Given the description of an element on the screen output the (x, y) to click on. 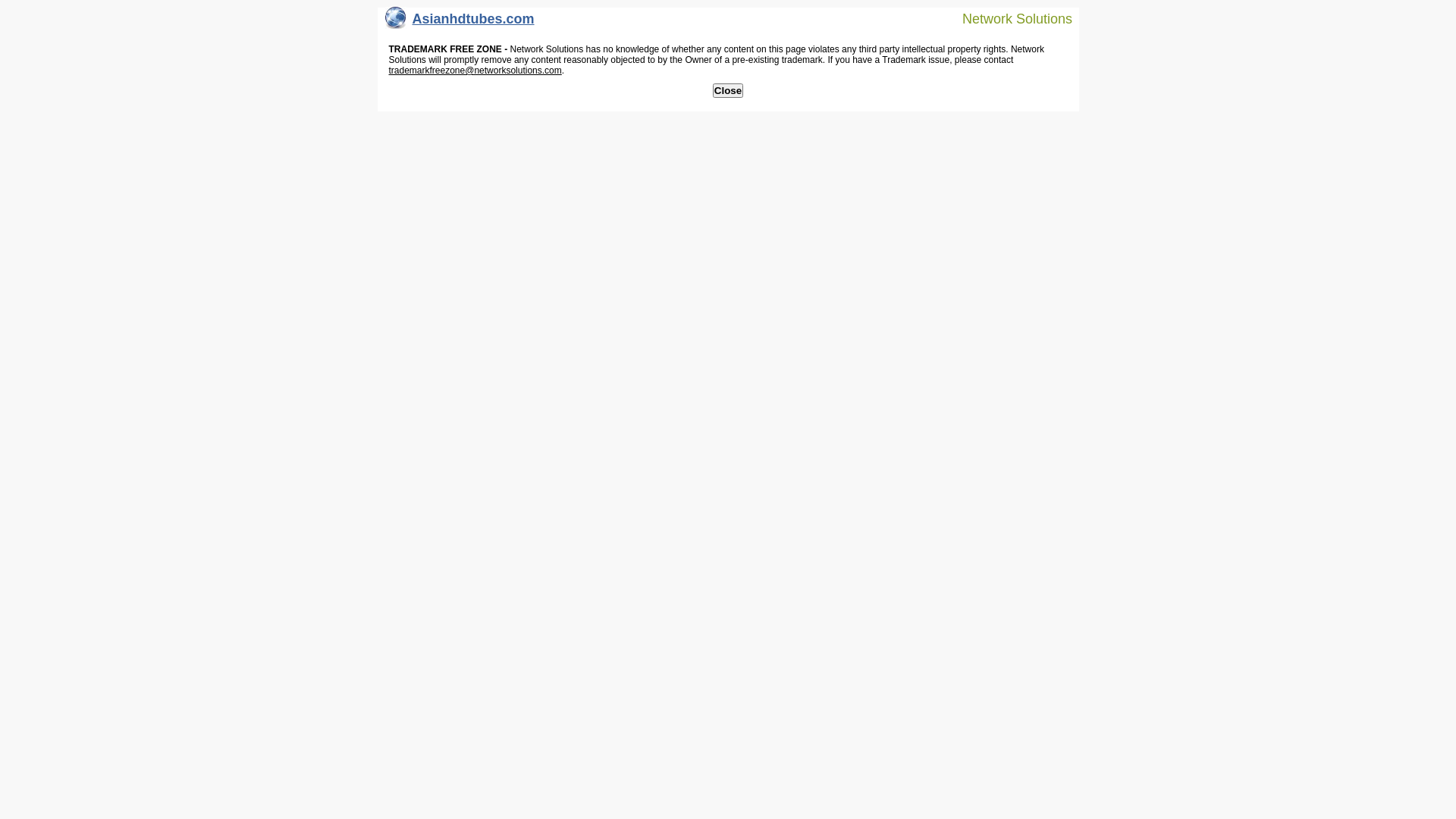
Network Solutions Element type: text (1007, 17)
Asianhdtubes.com Element type: text (459, 21)
Close Element type: text (727, 90)
trademarkfreezone@networksolutions.com Element type: text (474, 70)
